Given the description of an element on the screen output the (x, y) to click on. 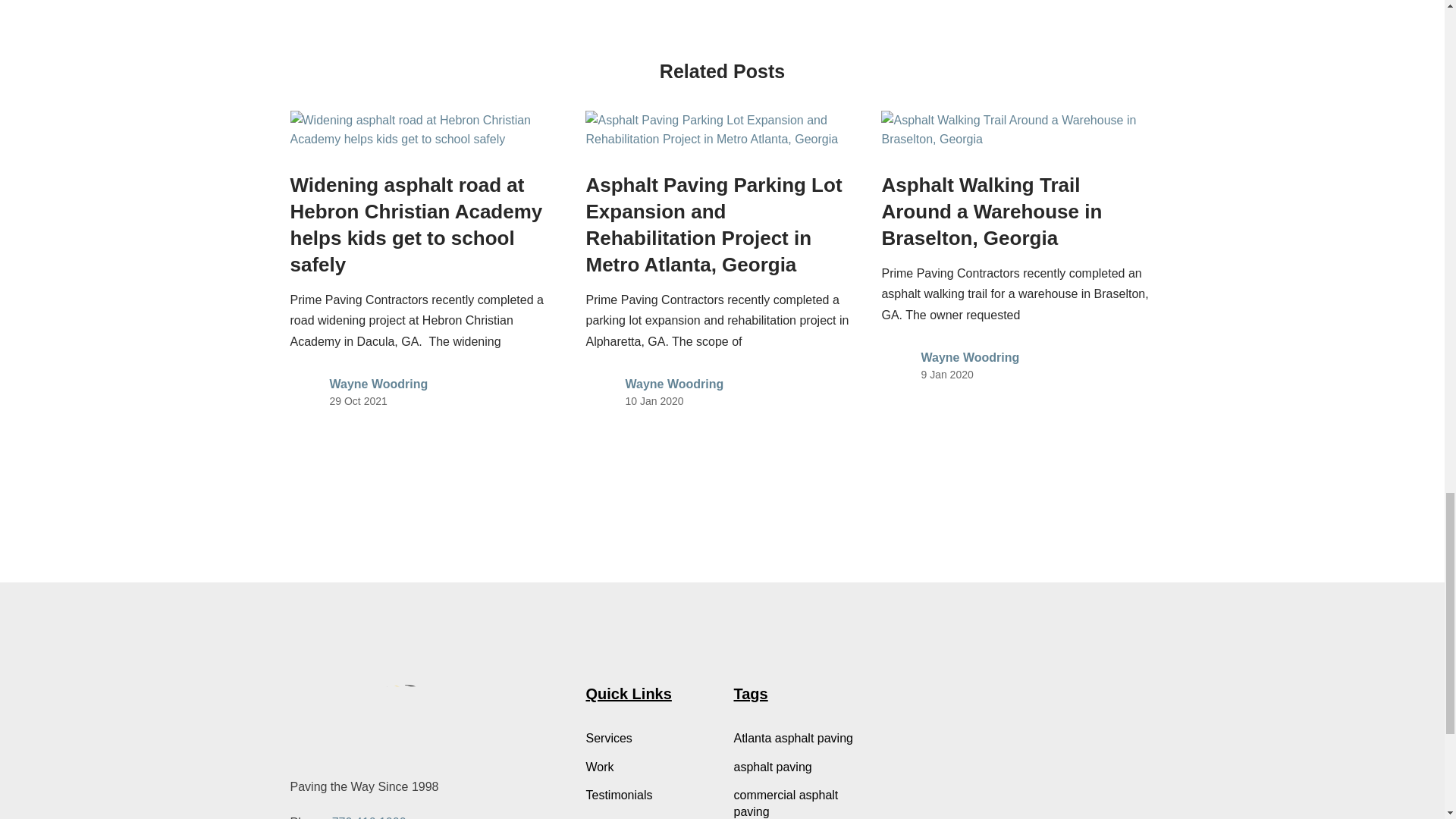
770.416.1000 (368, 817)
asphalt paving (796, 767)
Wayne Woodring (673, 383)
Wayne Woodring (969, 357)
Atlanta asphalt paving (796, 738)
Work (647, 767)
Wayne Woodring (378, 383)
Contact (647, 817)
Testimonials (647, 795)
commercial asphalt paving (796, 803)
Services (647, 738)
